Given the description of an element on the screen output the (x, y) to click on. 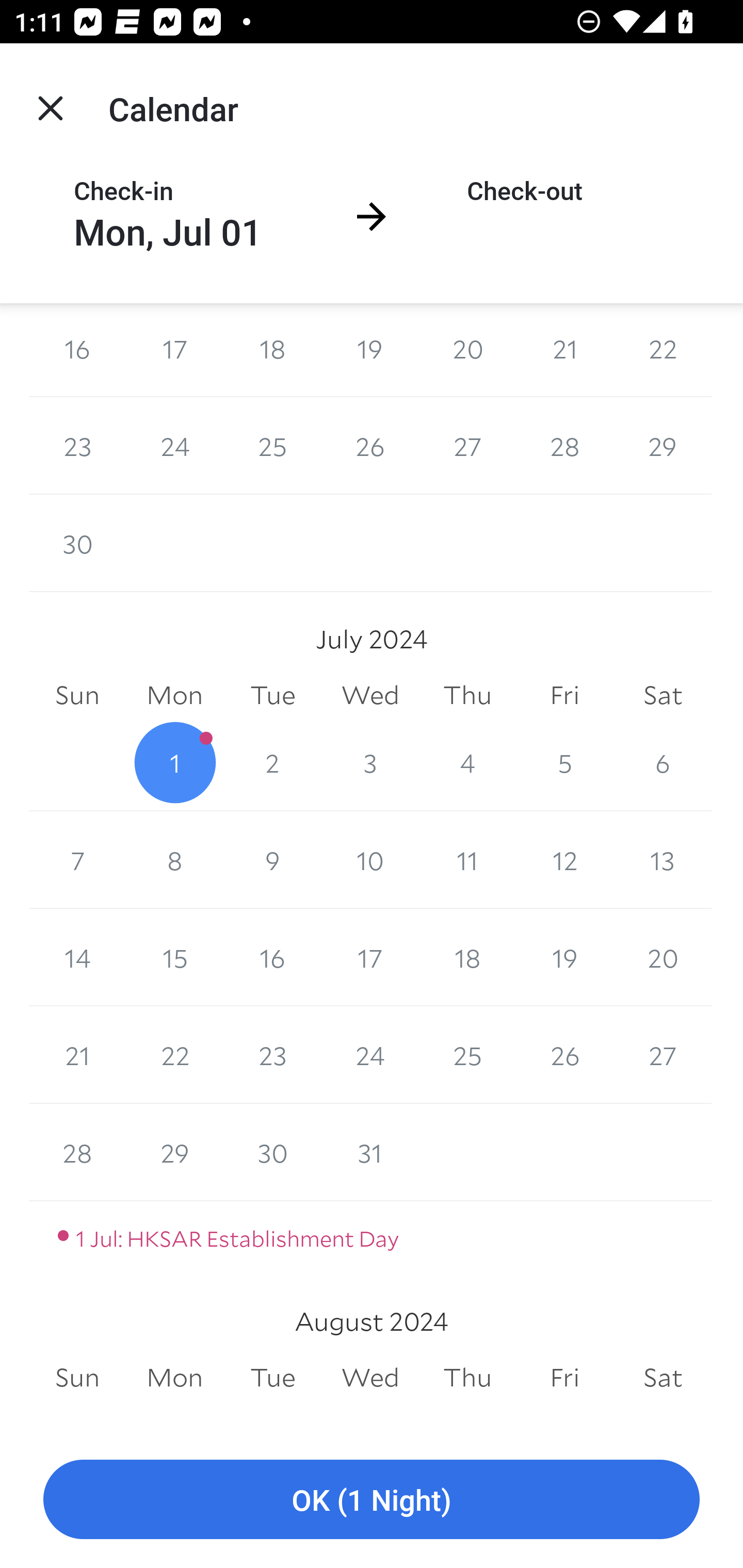
16 16 June 2024 (77, 349)
17 17 June 2024 (174, 349)
18 18 June 2024 (272, 349)
19 19 June 2024 (370, 349)
20 20 June 2024 (467, 349)
21 21 June 2024 (564, 349)
22 22 June 2024 (662, 349)
23 23 June 2024 (77, 444)
24 24 June 2024 (174, 444)
25 25 June 2024 (272, 444)
26 26 June 2024 (370, 444)
27 27 June 2024 (467, 444)
28 28 June 2024 (564, 444)
29 29 June 2024 (662, 444)
30 30 June 2024 (77, 542)
Sun (77, 695)
Mon (174, 695)
Tue (272, 695)
Wed (370, 695)
Thu (467, 695)
Fri (564, 695)
Sat (662, 695)
1 1 July 2024 (174, 761)
2 2 July 2024 (272, 761)
3 3 July 2024 (370, 761)
4 4 July 2024 (467, 761)
5 5 July 2024 (564, 761)
6 6 July 2024 (662, 761)
7 7 July 2024 (77, 859)
8 8 July 2024 (174, 859)
9 9 July 2024 (272, 859)
10 10 July 2024 (370, 859)
11 11 July 2024 (467, 859)
12 12 July 2024 (564, 859)
13 13 July 2024 (662, 859)
14 14 July 2024 (77, 957)
15 15 July 2024 (174, 957)
16 16 July 2024 (272, 957)
17 17 July 2024 (370, 957)
18 18 July 2024 (467, 957)
19 19 July 2024 (564, 957)
20 20 July 2024 (662, 957)
21 21 July 2024 (77, 1054)
22 22 July 2024 (174, 1054)
23 23 July 2024 (272, 1054)
24 24 July 2024 (370, 1054)
25 25 July 2024 (467, 1054)
26 26 July 2024 (564, 1054)
27 27 July 2024 (662, 1054)
28 28 July 2024 (77, 1152)
29 29 July 2024 (174, 1152)
30 30 July 2024 (272, 1152)
31 31 July 2024 (370, 1152)
Sun (77, 1377)
Mon (174, 1377)
Tue (272, 1377)
Wed (370, 1377)
Thu (467, 1377)
Fri (564, 1377)
Sat (662, 1377)
OK (1 Night) (371, 1499)
